Given the description of an element on the screen output the (x, y) to click on. 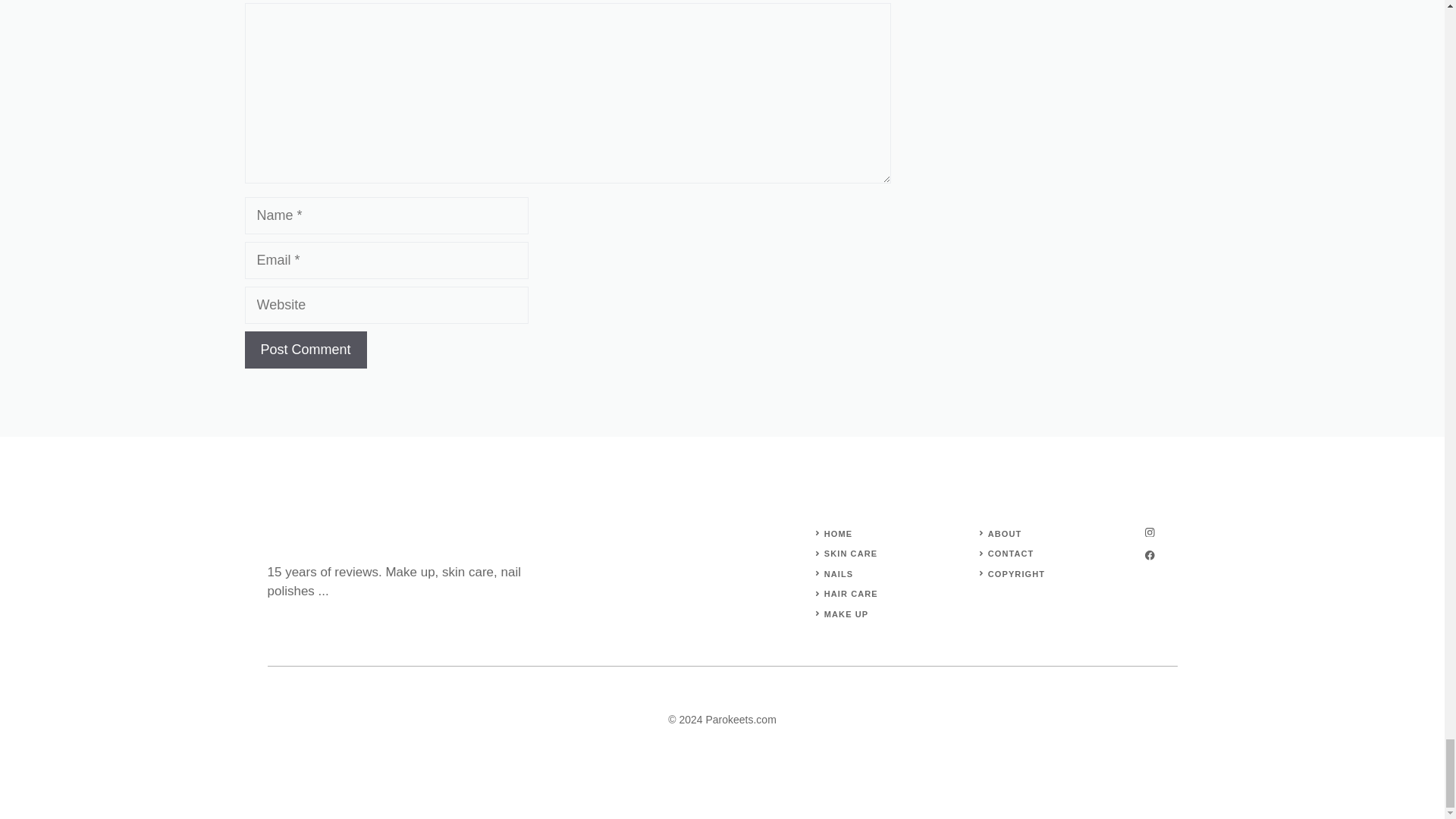
cropped-Parokeets-logo-2015-90 (304, 539)
Post Comment (305, 349)
